Given the description of an element on the screen output the (x, y) to click on. 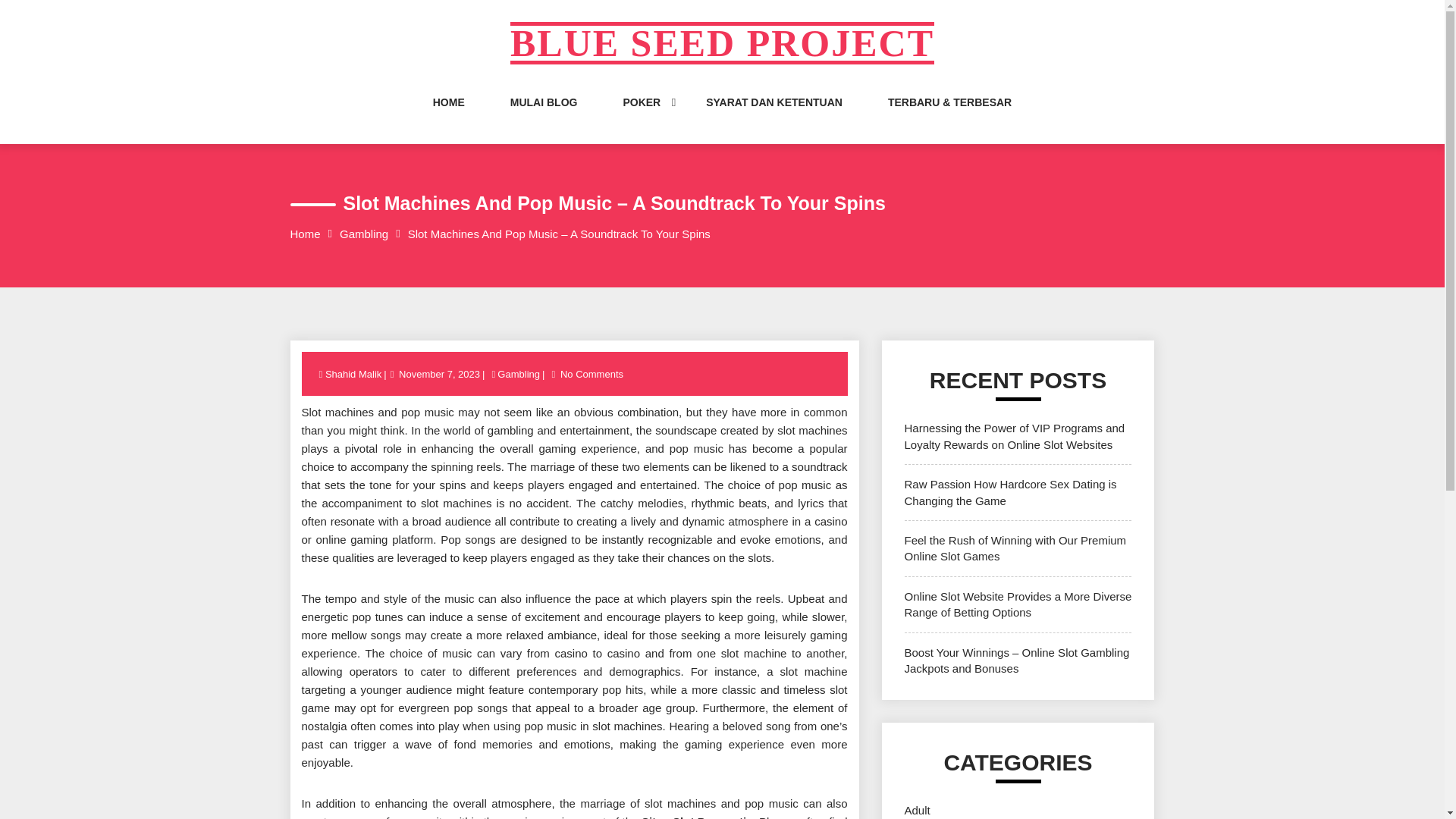
Adult (917, 809)
MULAI BLOG (544, 117)
BLUE SEED PROJECT (722, 43)
No Comments (591, 374)
Gambling (518, 374)
Raw Passion How Hardcore Sex Dating is Changing the Game (1010, 491)
November 7, 2023 (438, 374)
Gambling (363, 233)
